Given the description of an element on the screen output the (x, y) to click on. 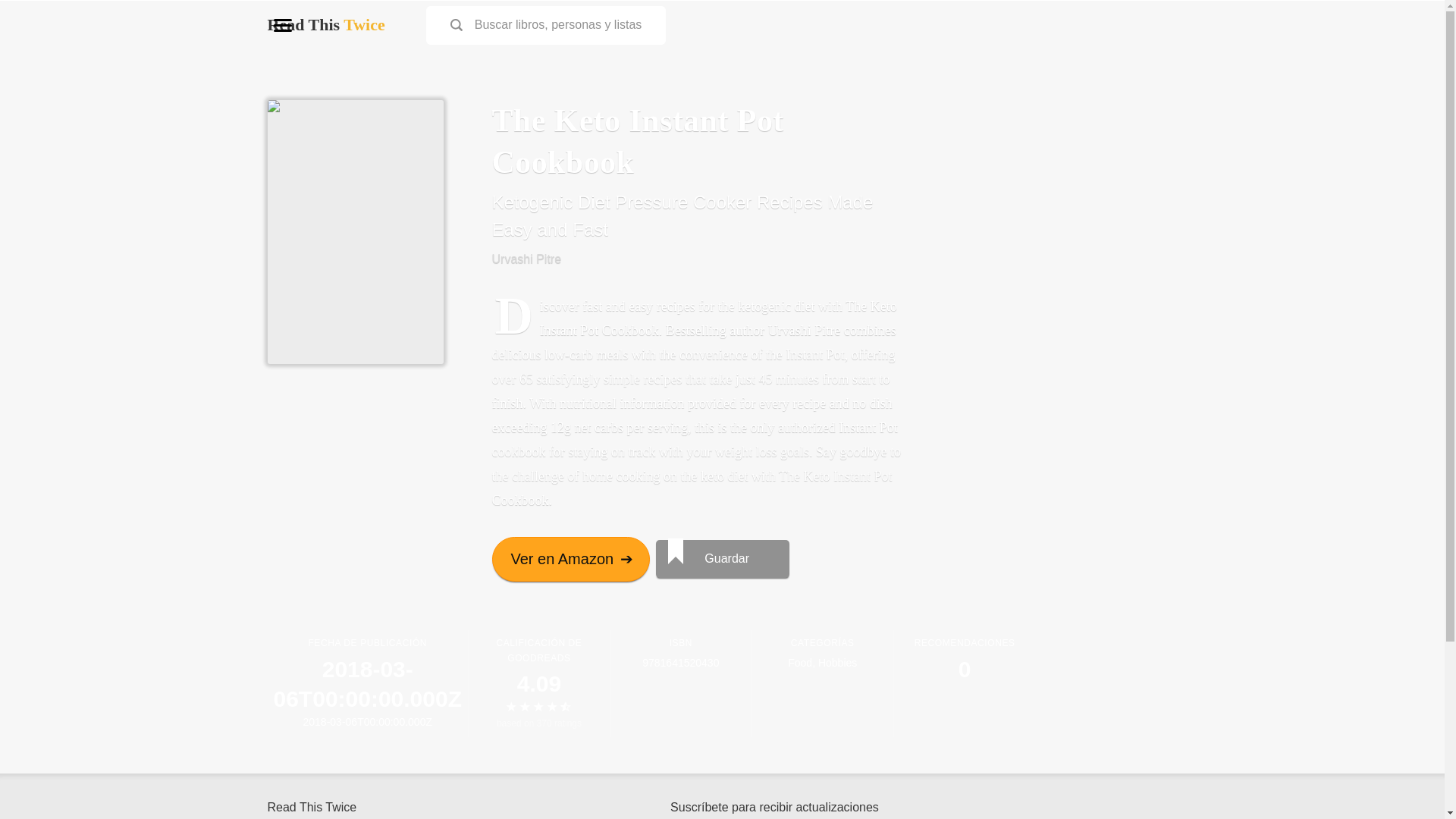
Guardar (722, 558)
Hobbies (837, 662)
based on 370 ratings (538, 723)
Food (799, 662)
Goodreads reviews (538, 723)
Read This Twice (325, 24)
